Given the description of an element on the screen output the (x, y) to click on. 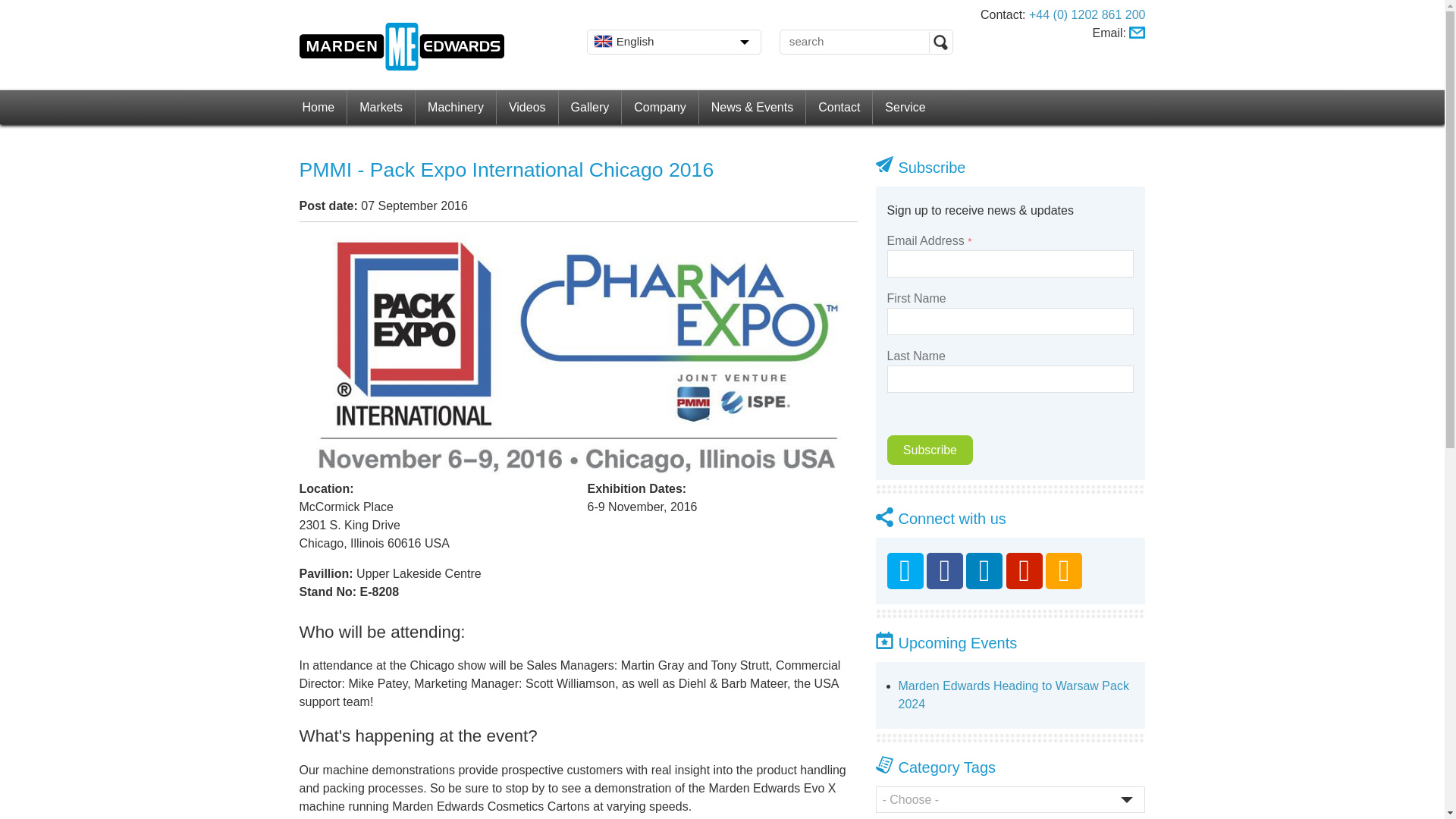
Markets (380, 107)
Home (317, 107)
Search (940, 42)
Search (940, 42)
Machinery (455, 107)
Subscribe (930, 449)
